Given the description of an element on the screen output the (x, y) to click on. 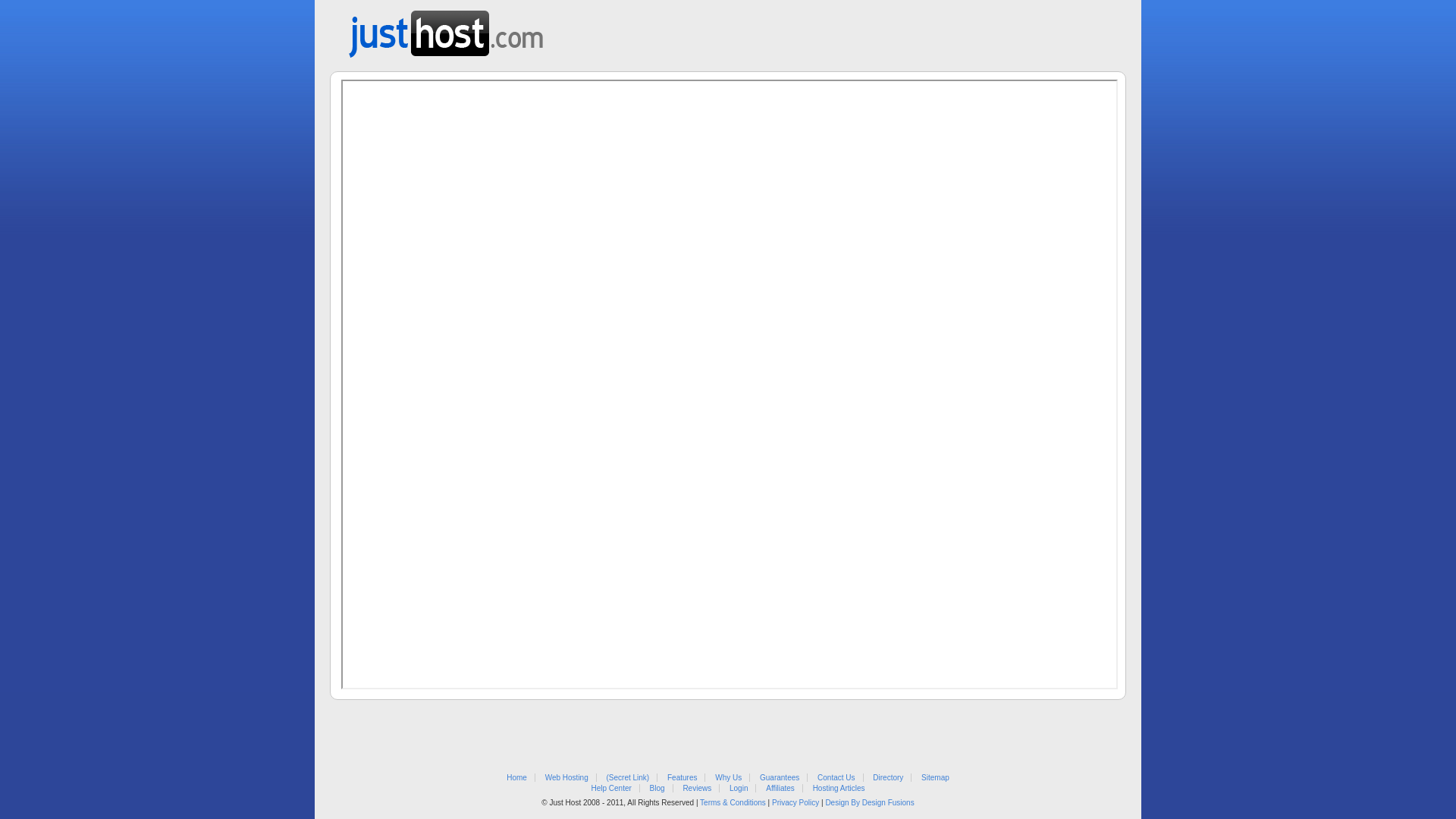
(Secret Link) Element type: text (627, 777)
Blog Element type: text (657, 788)
Web Hosting from Just Host Element type: text (445, 28)
Hosting Articles Element type: text (838, 788)
Web Hosting Element type: text (566, 777)
Terms & Conditions Element type: text (732, 802)
Affiliates Element type: text (779, 788)
Reviews Element type: text (696, 788)
Guarantees Element type: text (779, 777)
Contact Us Element type: text (835, 777)
Home Element type: text (516, 777)
Privacy Policy Element type: text (795, 802)
Help Center Element type: text (610, 788)
Why Us Element type: text (728, 777)
Directory Element type: text (887, 777)
Design By Design Fusions Element type: text (869, 802)
Login Element type: text (738, 788)
Features Element type: text (681, 777)
Sitemap Element type: text (935, 777)
